Given the description of an element on the screen output the (x, y) to click on. 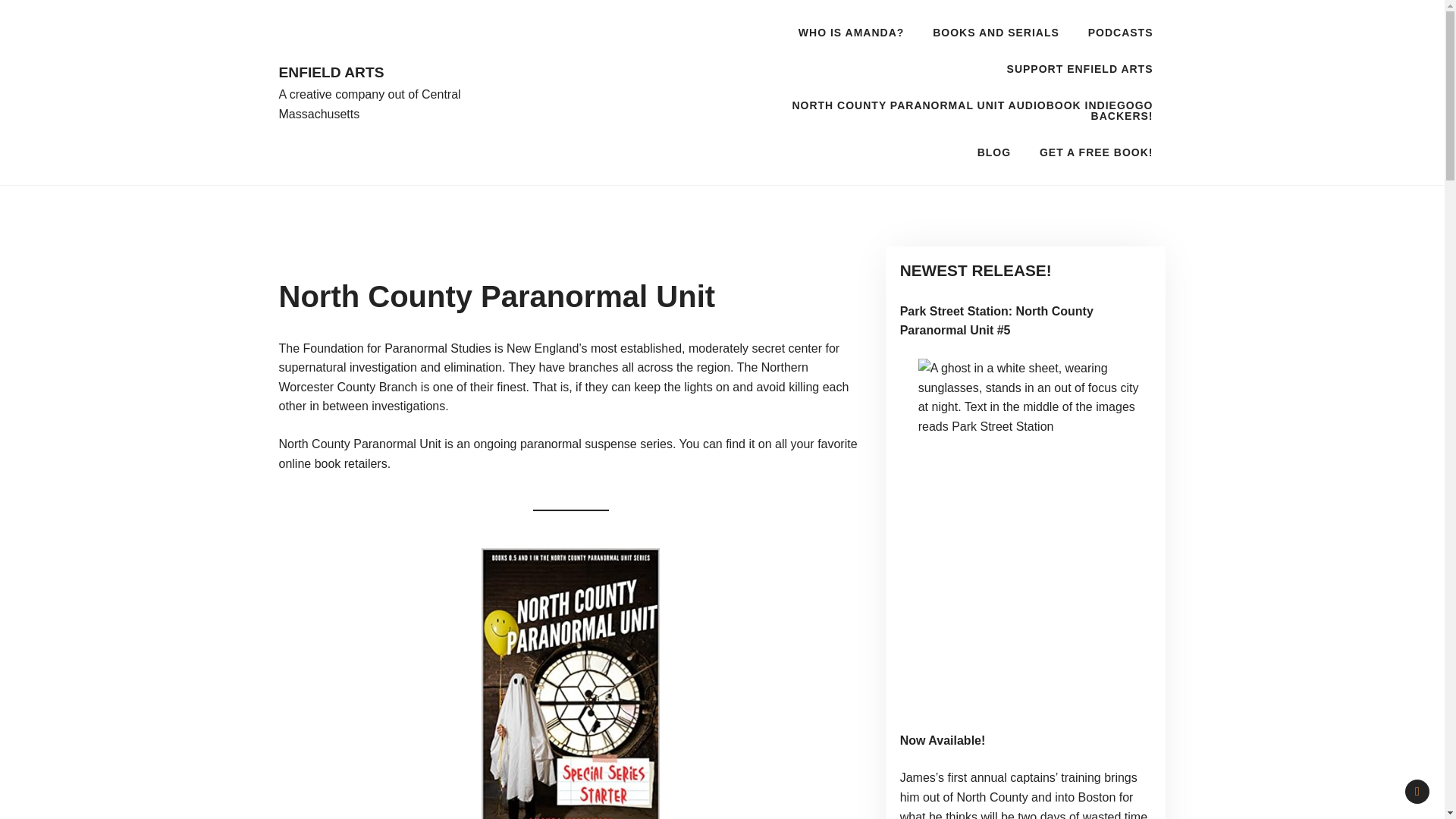
BOOKS AND SERIALS (995, 32)
WHO IS AMANDA? (851, 32)
NORTH COUNTY PARANORMAL UNIT AUDIOBOOK INDIEGOGO BACKERS! (949, 110)
GET A FREE BOOK! (1096, 152)
ENFIELD ARTS (381, 73)
SUPPORT ENFIELD ARTS (1080, 68)
BLOG (993, 152)
Now Available! (942, 739)
PODCASTS (1120, 32)
